Given the description of an element on the screen output the (x, y) to click on. 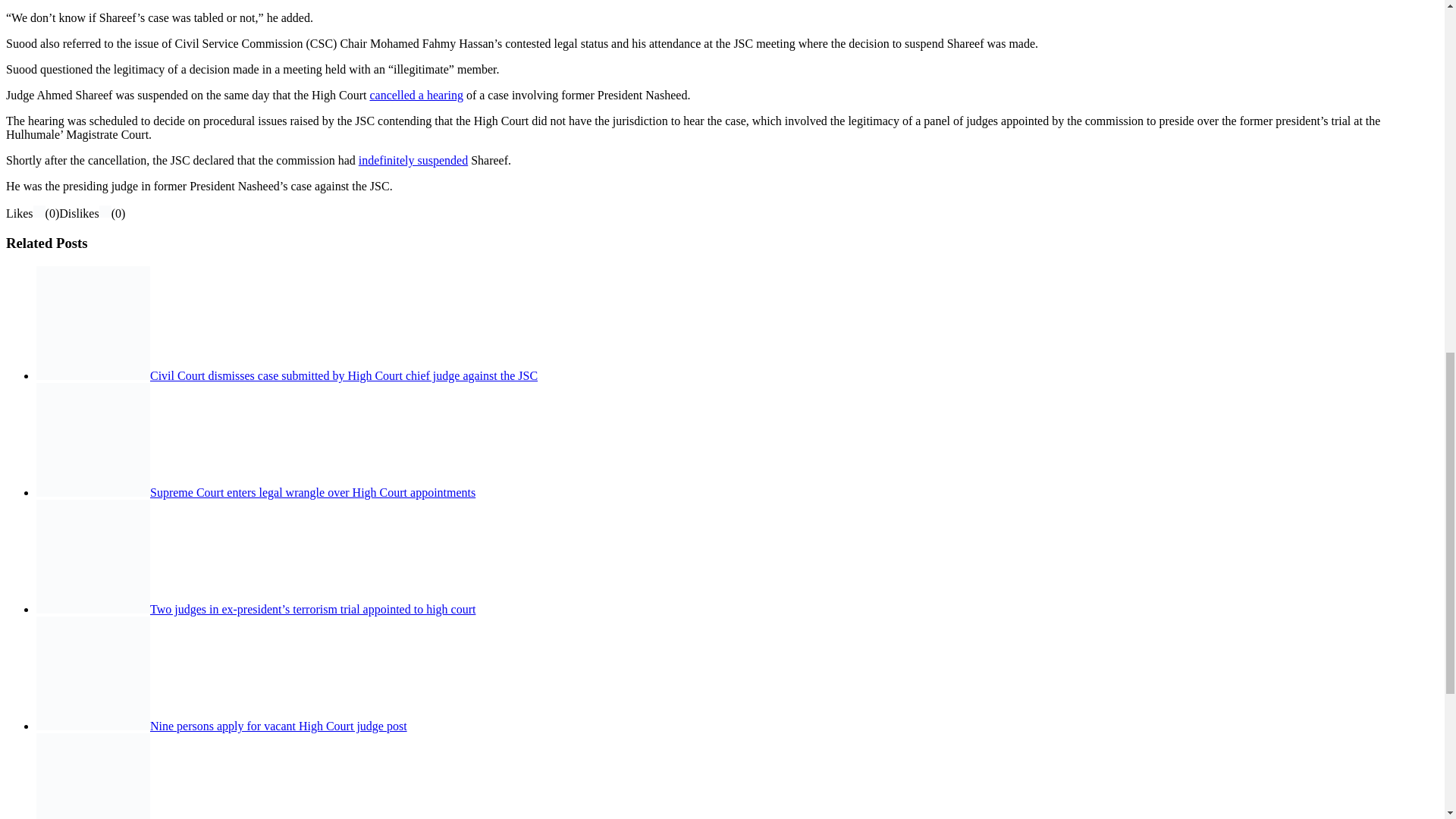
cancelled a hearing (416, 94)
Nine persons apply for vacant High Court judge post (278, 725)
indefinitely suspended (412, 160)
